Given the description of an element on the screen output the (x, y) to click on. 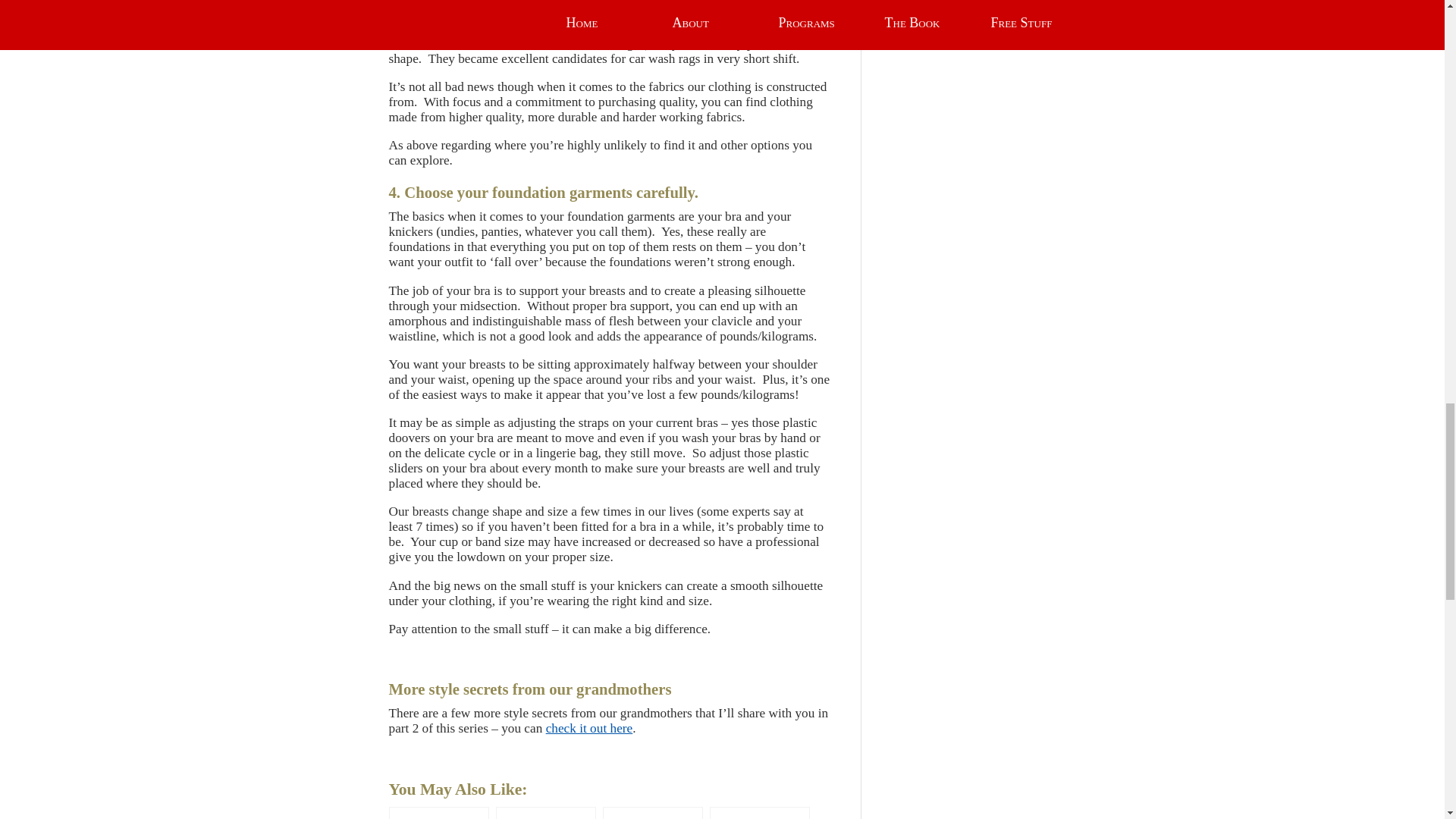
Liberating Your Style Insight (759, 812)
Liberating Your Style Insight (759, 812)
Style Secrets From Our Grandmothers Part 2 (437, 812)
No Repeat November Style Challenge (652, 812)
check it out here (589, 728)
How Early Shopping Messages Shape Our Style (545, 812)
Style Secrets From Our Grandmothers Part 2 (437, 812)
No Repeat November Style Challenge (652, 812)
How Early Shopping Messages Shape Our Style (545, 812)
